Given the description of an element on the screen output the (x, y) to click on. 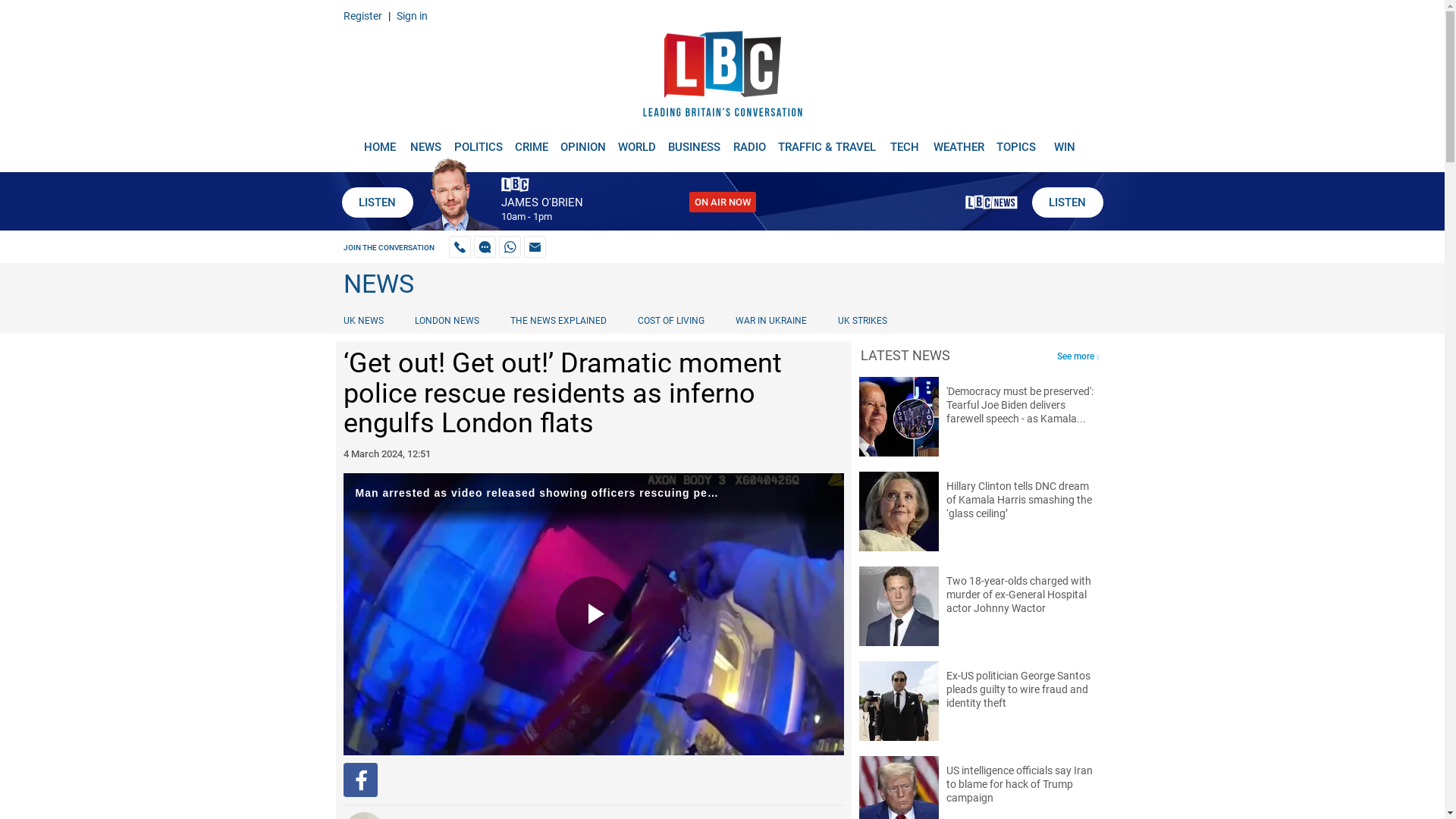
WIN (1064, 140)
TOPICS (1016, 140)
CRIME (531, 140)
LISTEN (1066, 202)
UK NEWS (365, 320)
RADIO (748, 140)
BUSINESS (694, 140)
LONDON NEWS (446, 320)
WAR IN UKRAINE (770, 320)
WEATHER (958, 140)
